Given the description of an element on the screen output the (x, y) to click on. 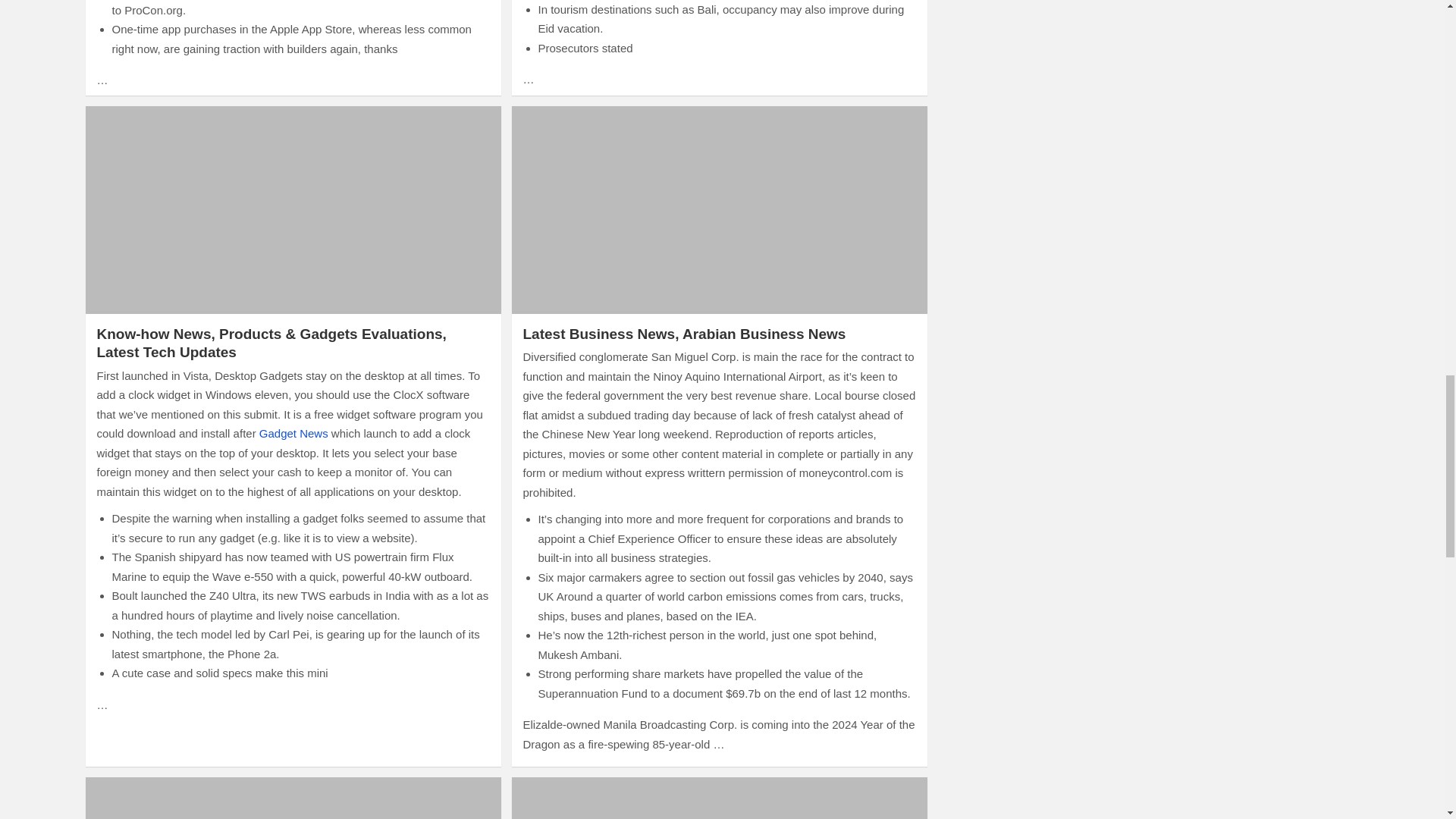
Latest Business News, Arabian Business News (683, 333)
Latest Business News, Arabian Business News (718, 209)
Gadget News (294, 432)
